Given the description of an element on the screen output the (x, y) to click on. 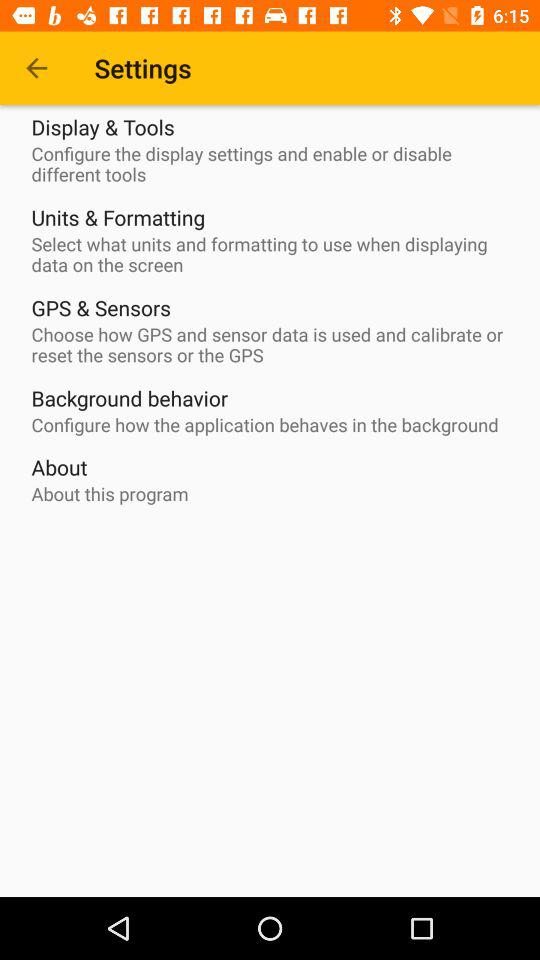
turn on the icon above background behavior icon (275, 345)
